Given the description of an element on the screen output the (x, y) to click on. 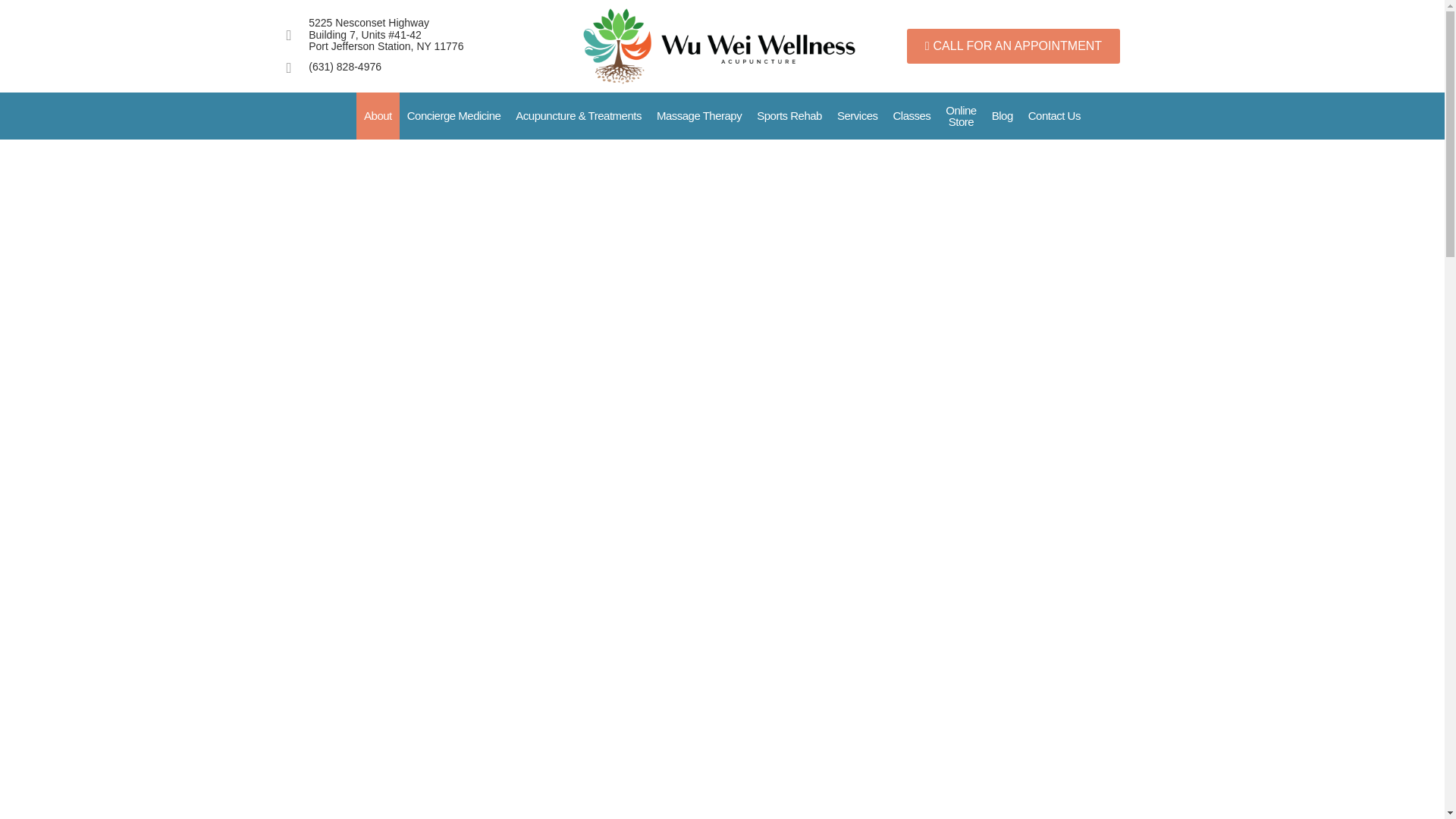
Massage Therapy (699, 115)
CALL FOR AN APPOINTMENT (1013, 45)
Concierge Medicine (453, 115)
Sports Rehab (789, 115)
Services (857, 115)
About (377, 115)
